Given the description of an element on the screen output the (x, y) to click on. 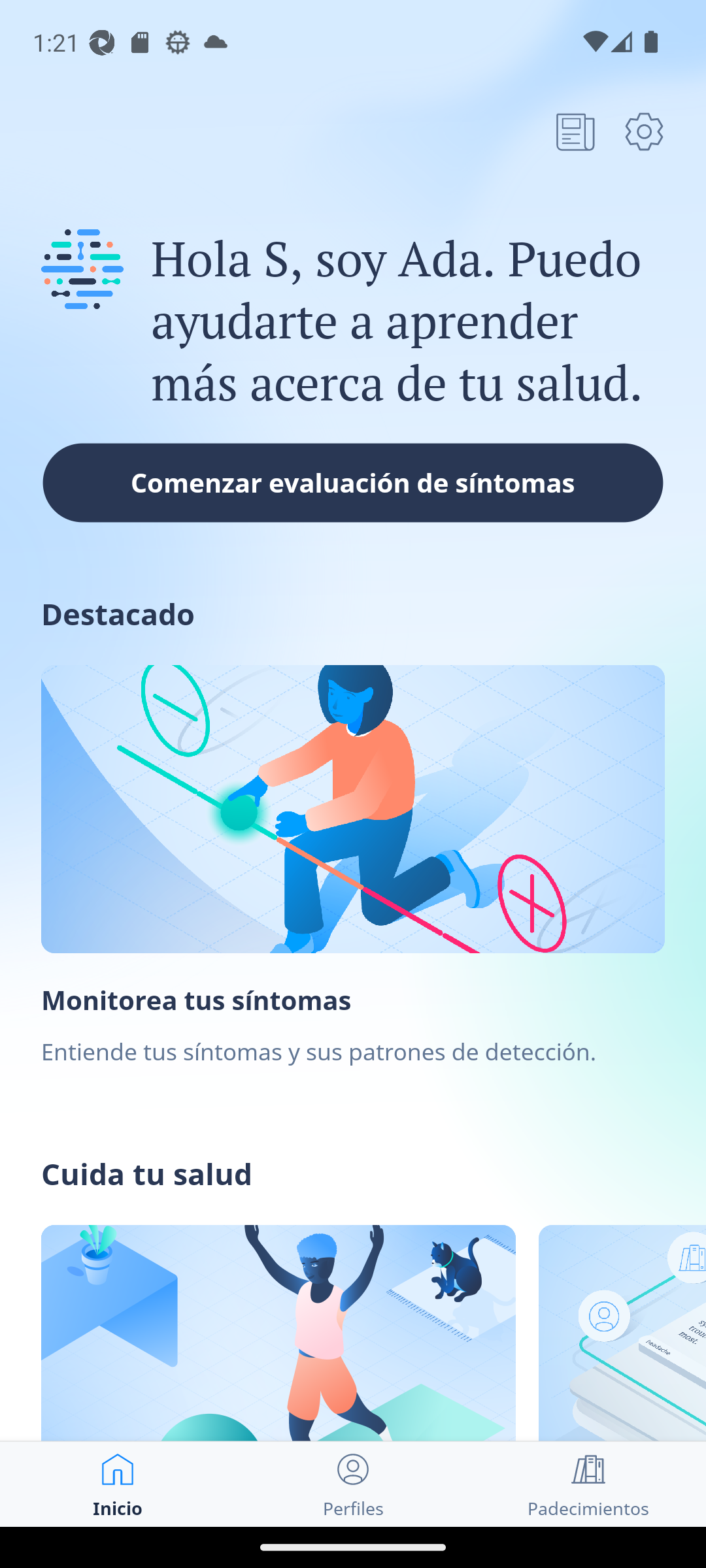
article icon , open articles (574, 131)
settings icon, open settings (644, 131)
Comenzar evaluación de síntomas (352, 482)
Inicio (117, 1484)
Perfiles (352, 1484)
Padecimientos (588, 1484)
